Given the description of an element on the screen output the (x, y) to click on. 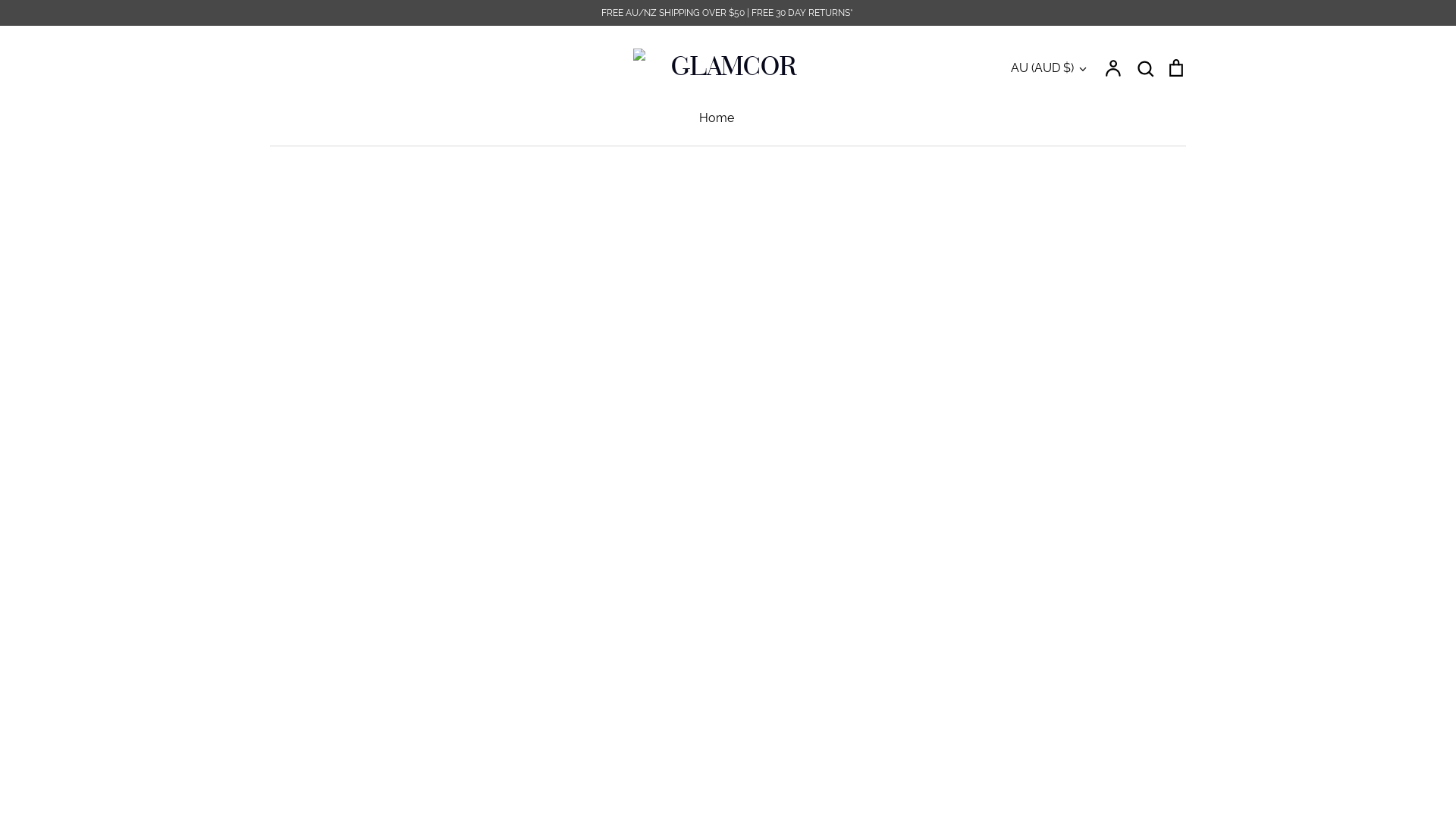
AU (AUD $) Element type: text (1049, 68)
Cart Element type: text (1176, 66)
Search Element type: text (1144, 66)
Home Element type: text (716, 117)
Account Element type: text (1113, 66)
